Given the description of an element on the screen output the (x, y) to click on. 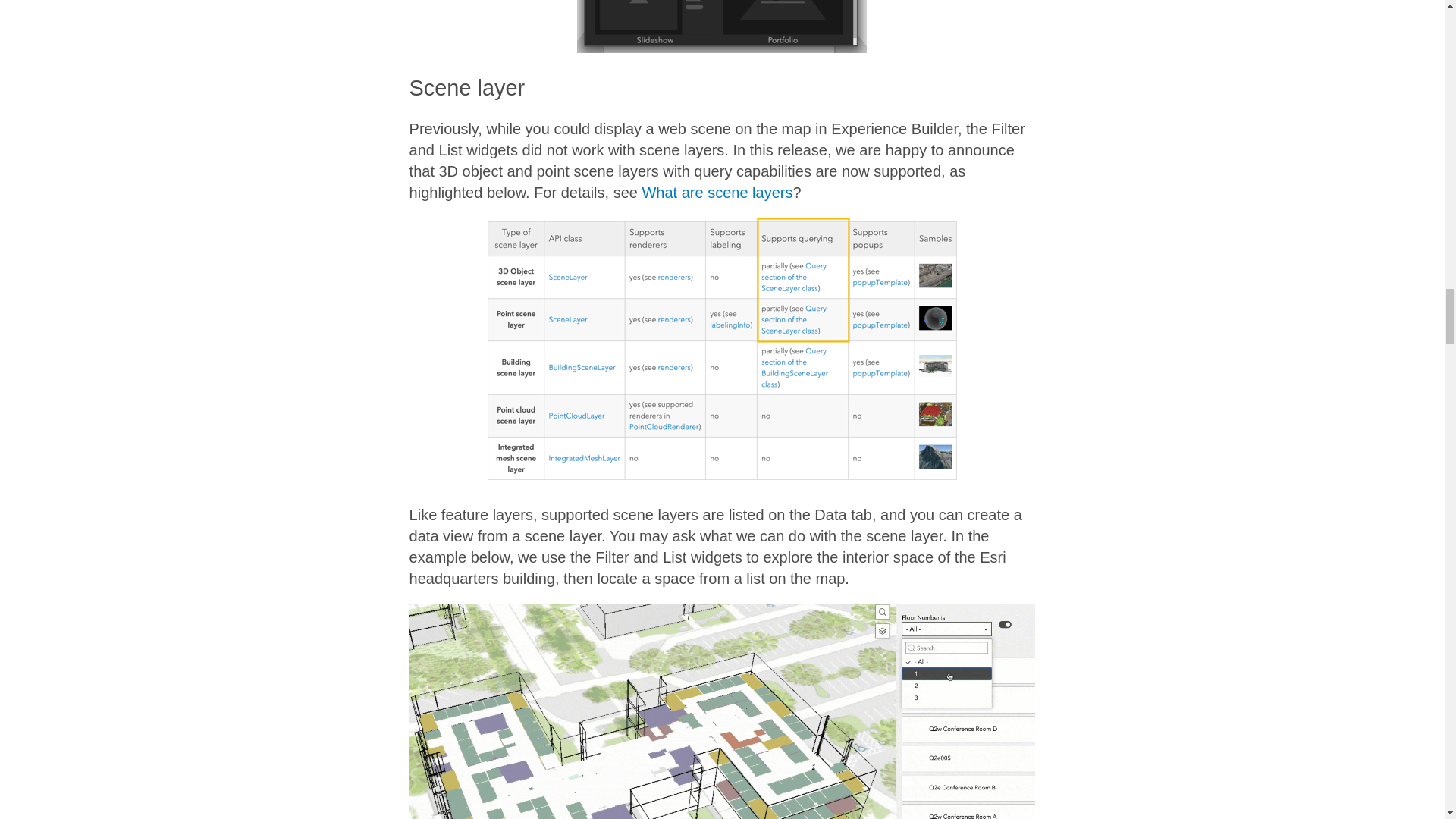
Supported scene layers (721, 351)
What are scene layers (717, 192)
Screen group templates (721, 26)
